Given the description of an element on the screen output the (x, y) to click on. 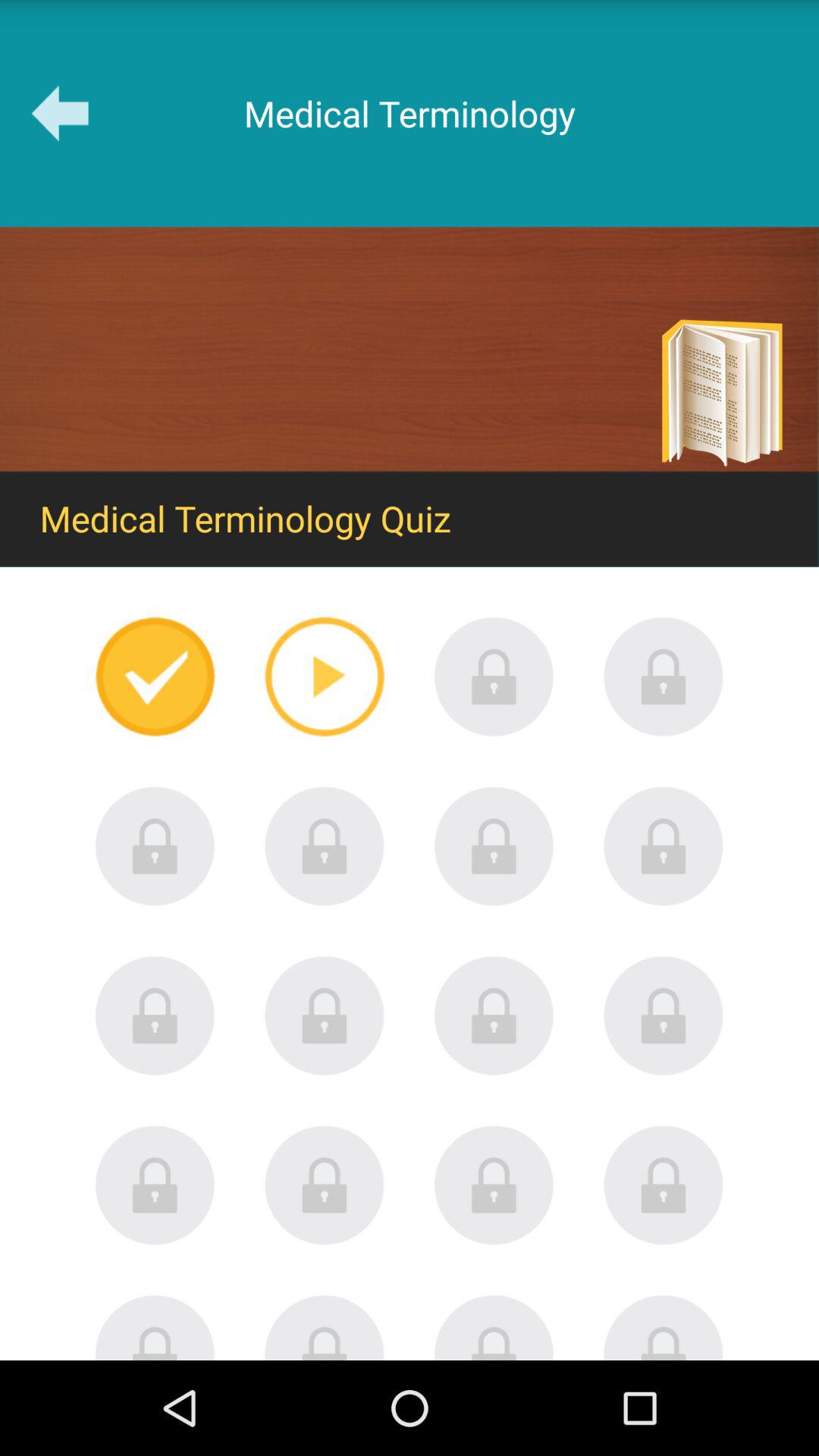
tick emoji (154, 676)
